Given the description of an element on the screen output the (x, y) to click on. 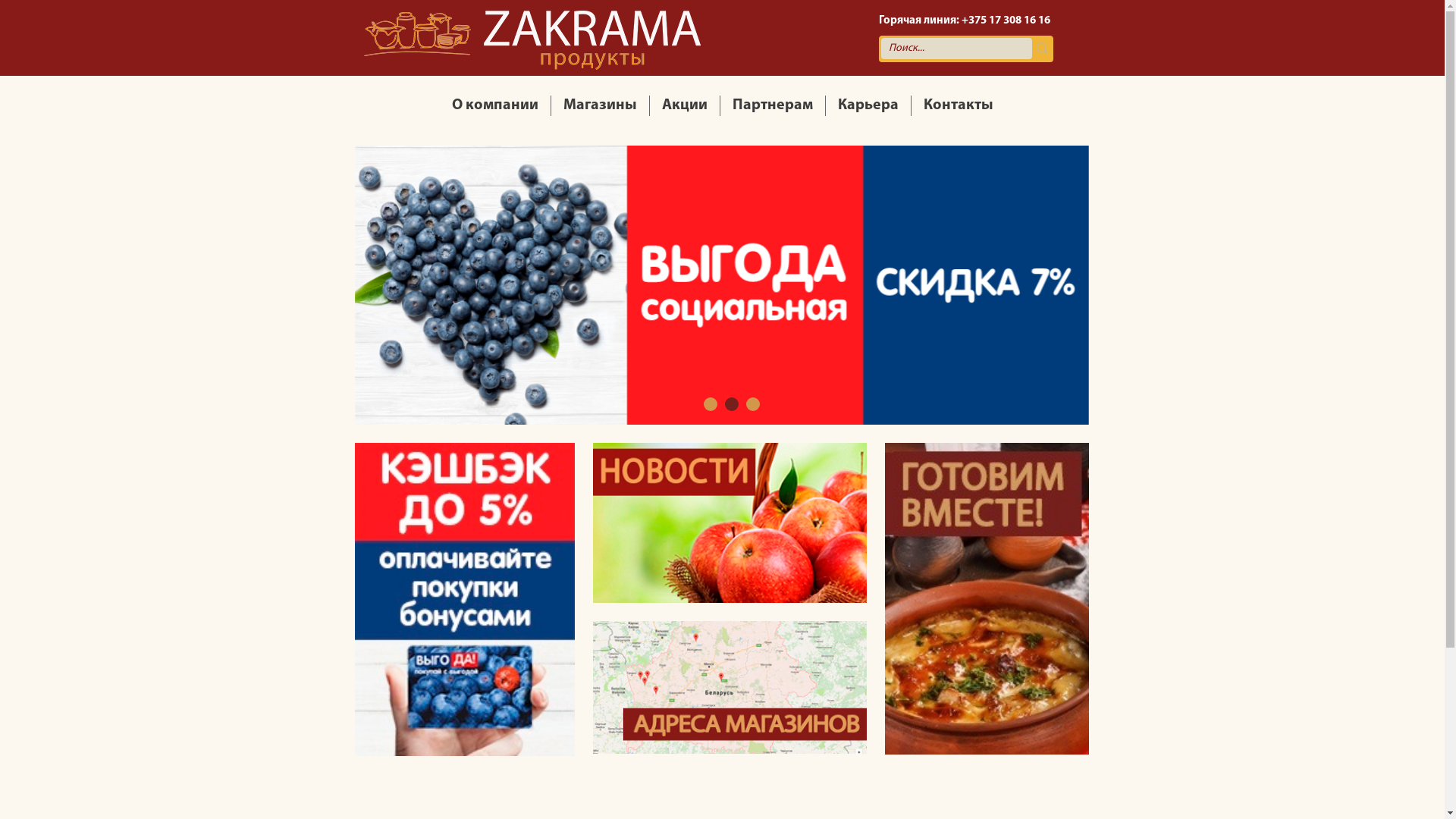
1 Element type: text (710, 404)
Zakrama Element type: text (532, 37)
3 Element type: text (752, 404)
2 Element type: text (731, 404)
